Given the description of an element on the screen output the (x, y) to click on. 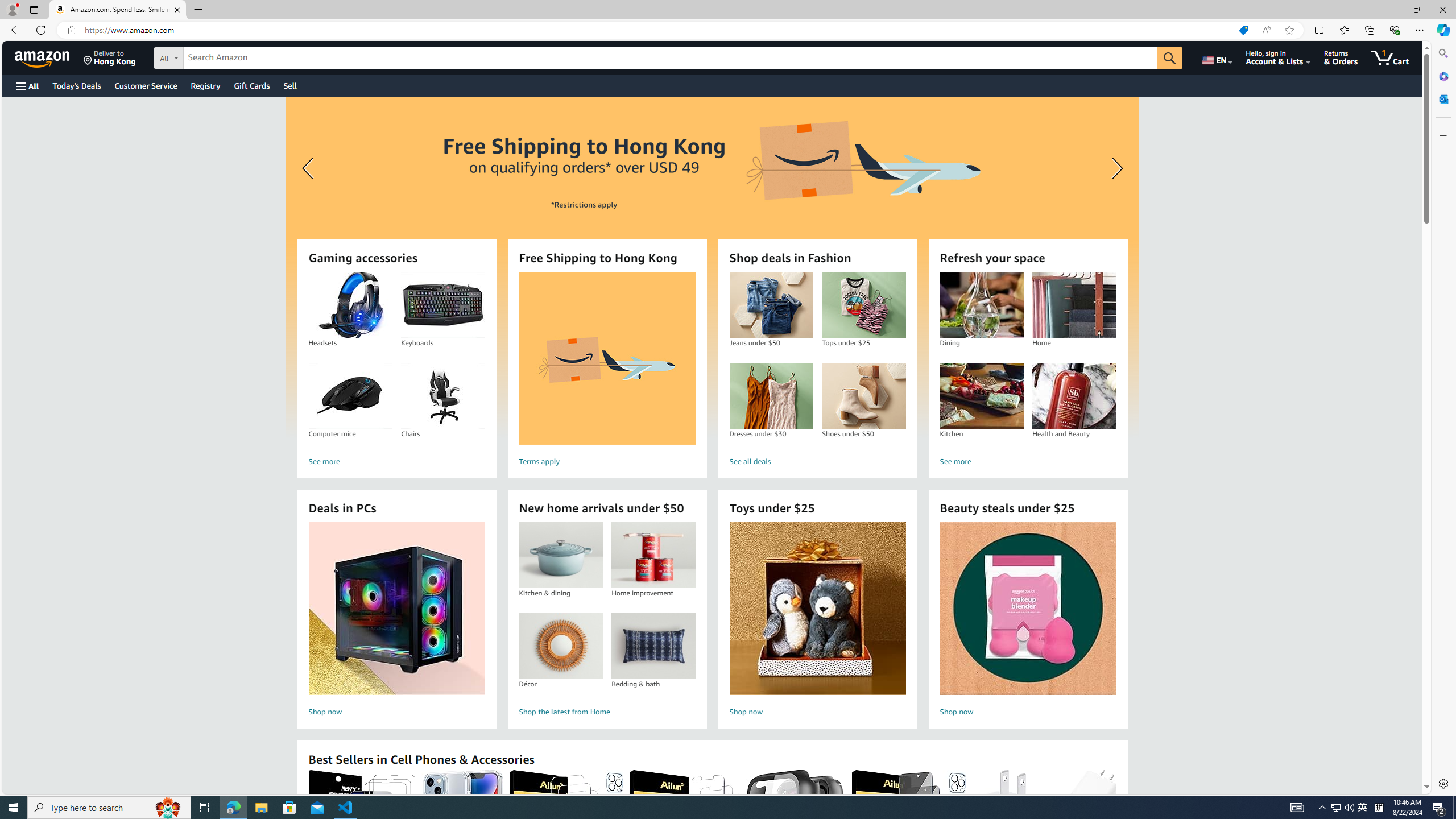
Home improvement (653, 555)
Next slide (1114, 168)
Beauty steals under $25 Shop now (1028, 620)
Bedding & bath (653, 645)
Tops under $25 (863, 304)
Returns & Orders (1340, 57)
Bedding & bath (652, 645)
